Given the description of an element on the screen output the (x, y) to click on. 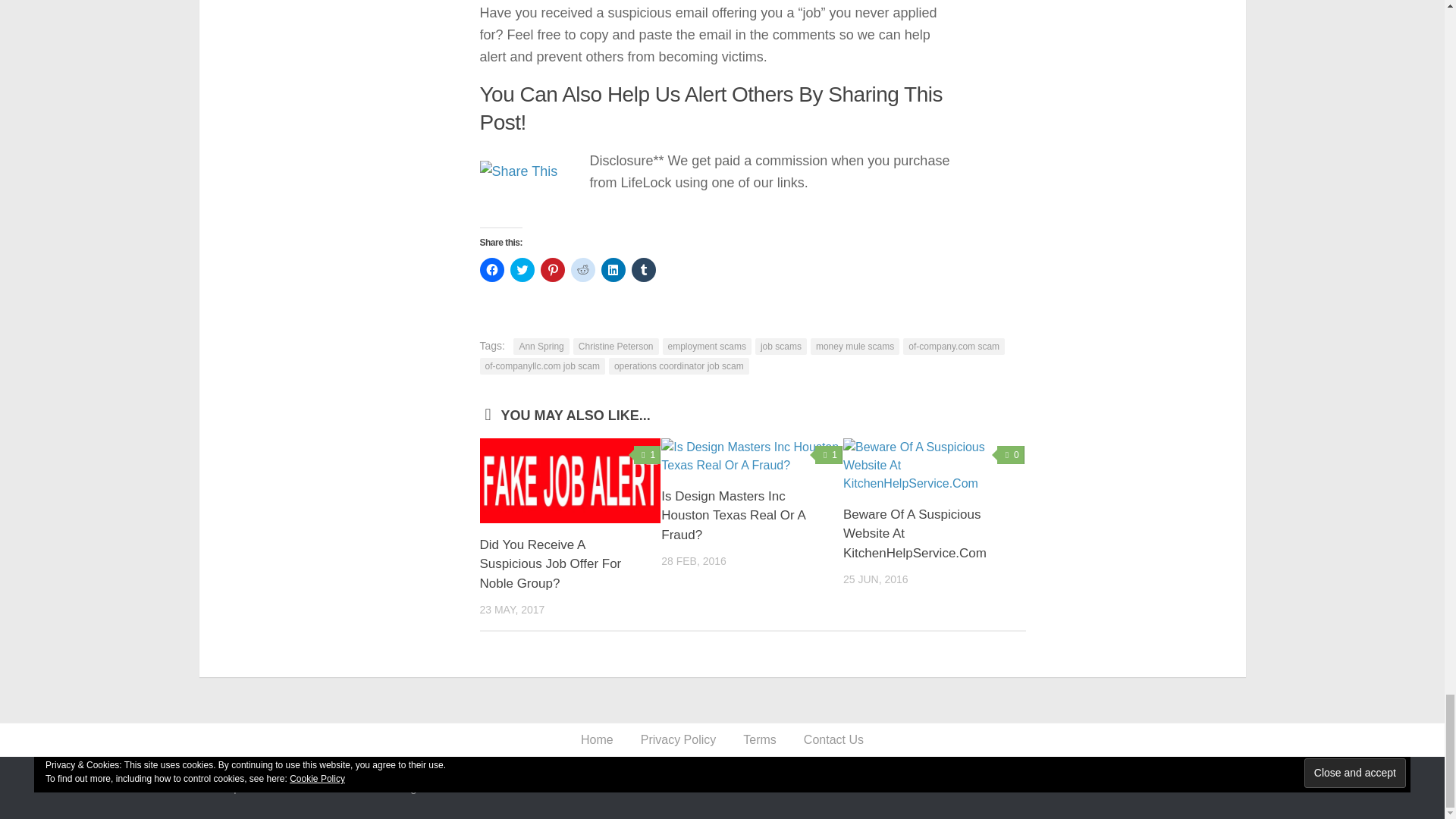
Click to share on Facebook (491, 269)
of-companyllc.com job scam (541, 365)
1 (647, 454)
1 (829, 454)
Beware Of A Suspicious Website At KitchenHelpService.Com (915, 533)
operations coordinator job scam (678, 365)
Click to share on LinkedIn (611, 269)
Is Design Masters Inc Houston Texas Real Or A Fraud? (733, 515)
Click to share on Tumblr (642, 269)
Click to share on Reddit (582, 269)
